Given the description of an element on the screen output the (x, y) to click on. 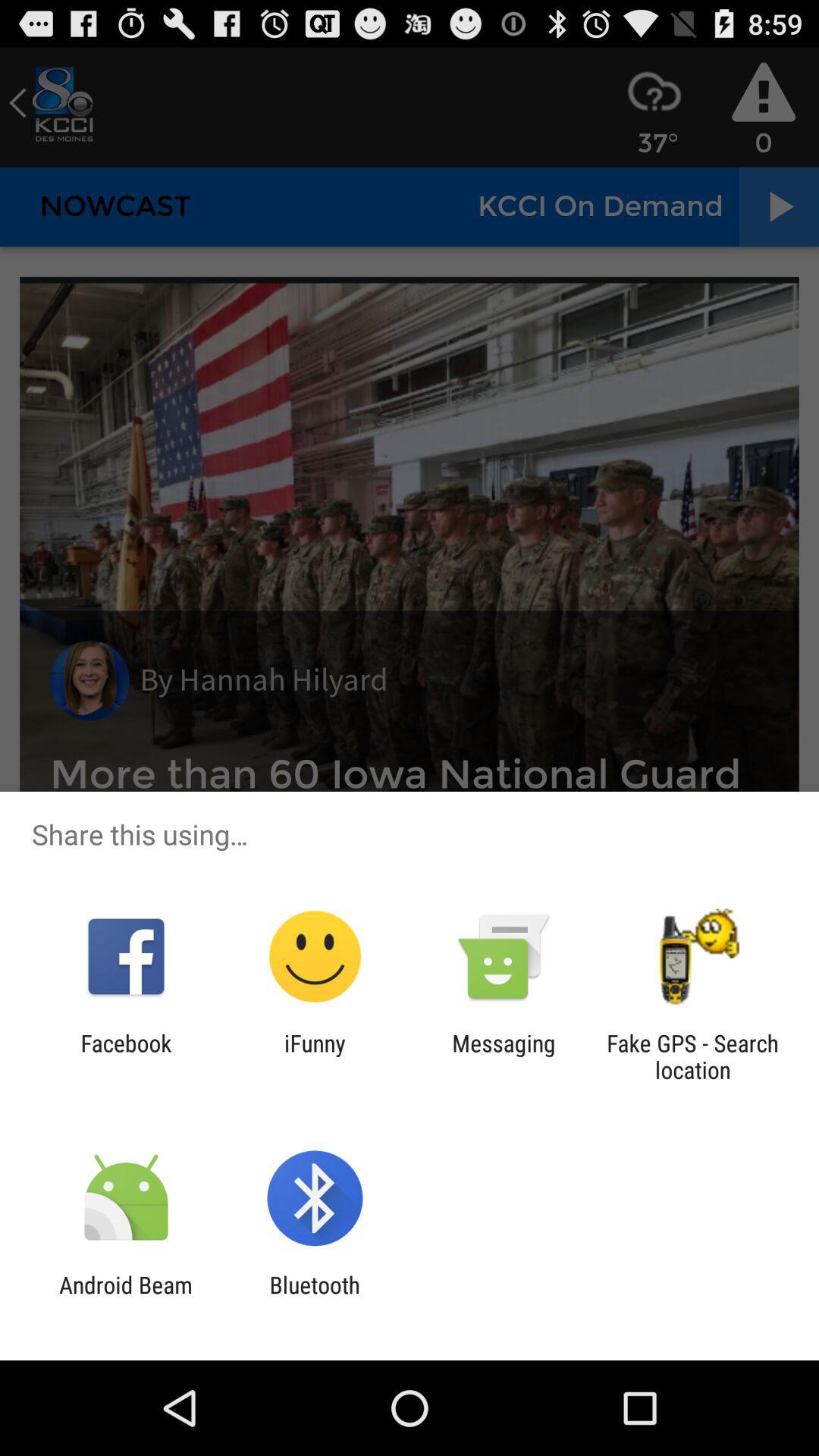
launch app to the right of facebook app (314, 1056)
